Given the description of an element on the screen output the (x, y) to click on. 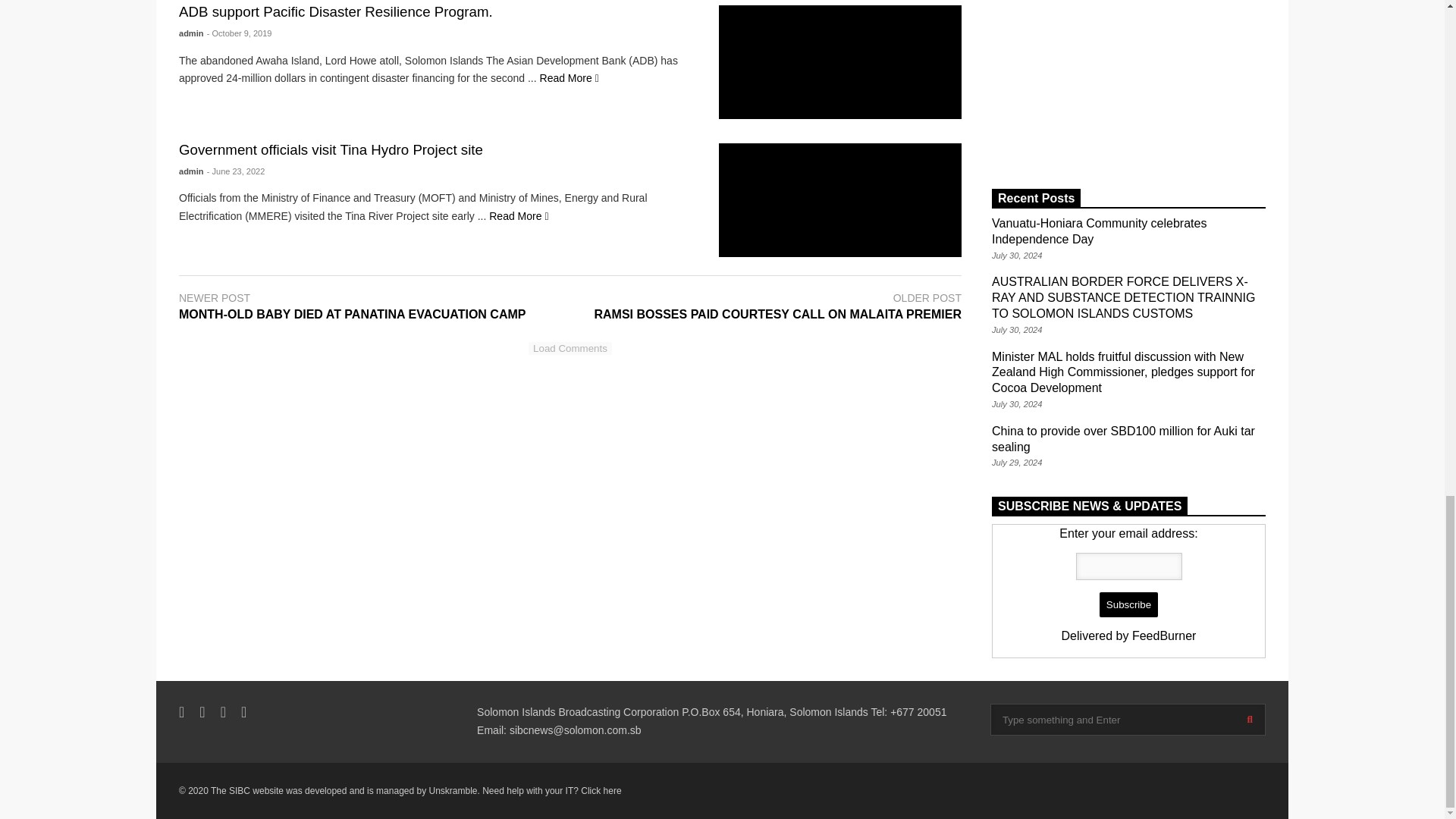
Subscribe (1128, 605)
ADB support Pacific Disaster Resilience Program. (336, 11)
ADB support Pacific Disaster Resilience Program. (839, 61)
ADB support Pacific Disaster Resilience Program. (569, 78)
Government officials visit Tina Hydro Project site (839, 200)
